Given the description of an element on the screen output the (x, y) to click on. 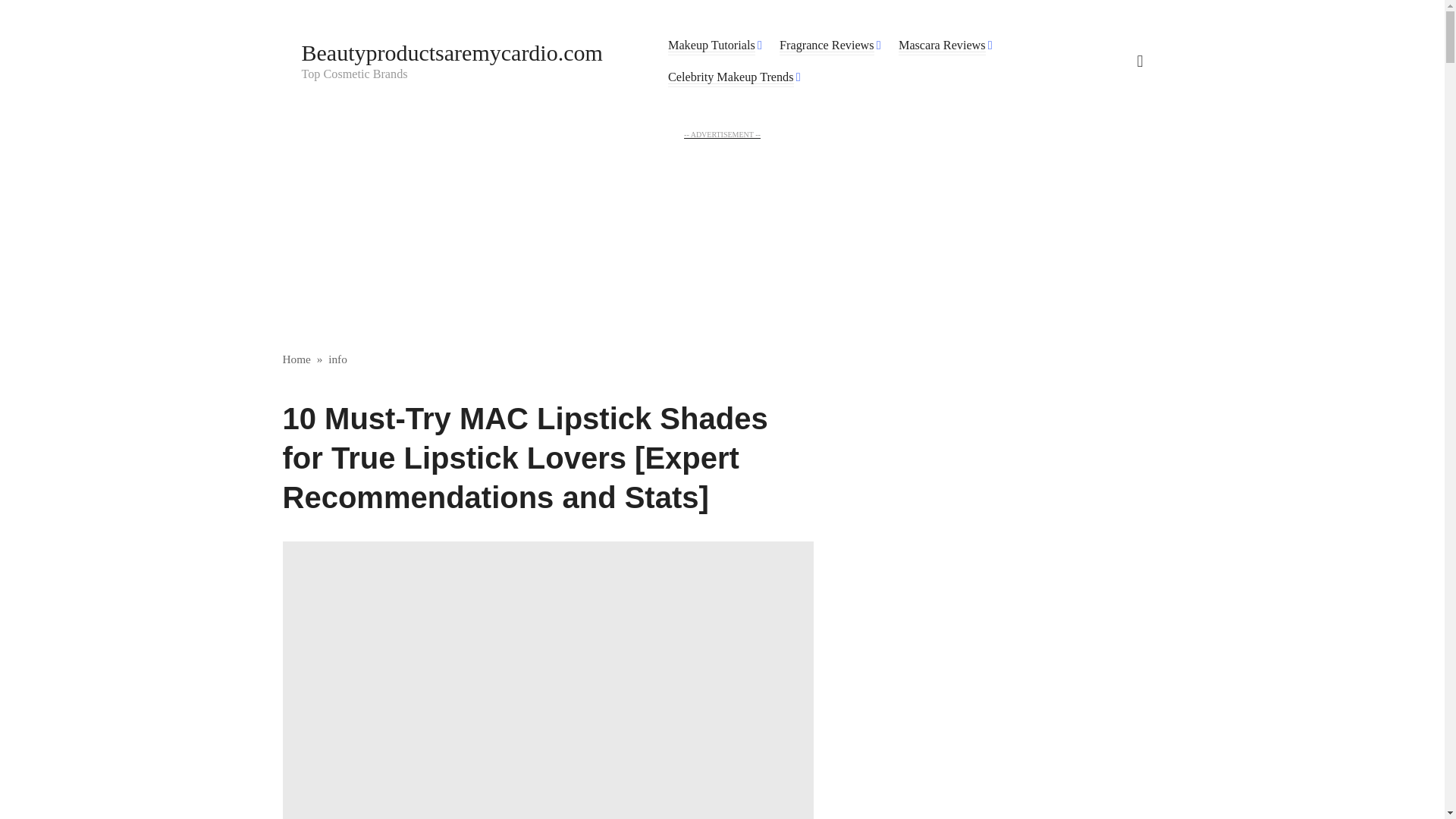
info (338, 358)
Home (296, 358)
Celebrity Makeup Trends (730, 77)
Makeup Tutorials (711, 45)
Mascara Reviews (941, 45)
Fragrance Reviews (826, 45)
Beautyproductsaremycardio.com (451, 52)
